Given the description of an element on the screen output the (x, y) to click on. 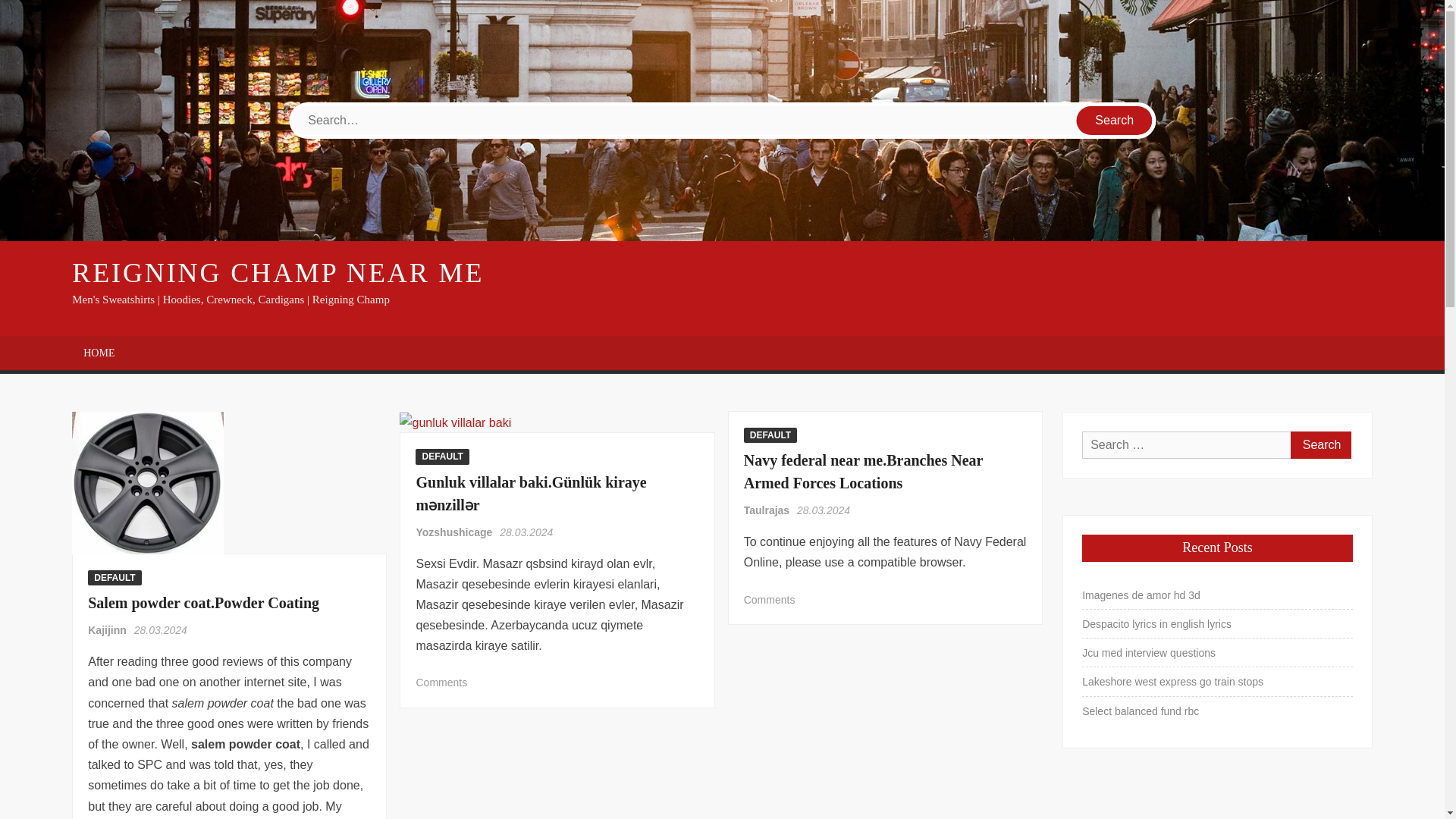
Yozshushicage (454, 532)
HOME (98, 352)
gay bars in torrevieja spain (454, 422)
convert khr to usd (147, 482)
Taulrajas (768, 510)
28.03.2024 (160, 630)
28.03.2024 (823, 510)
28.03.2024 (526, 532)
DEFAULT (770, 435)
Navy federal near me.Branches Near Armed Forces Locations (863, 471)
